Given the description of an element on the screen output the (x, y) to click on. 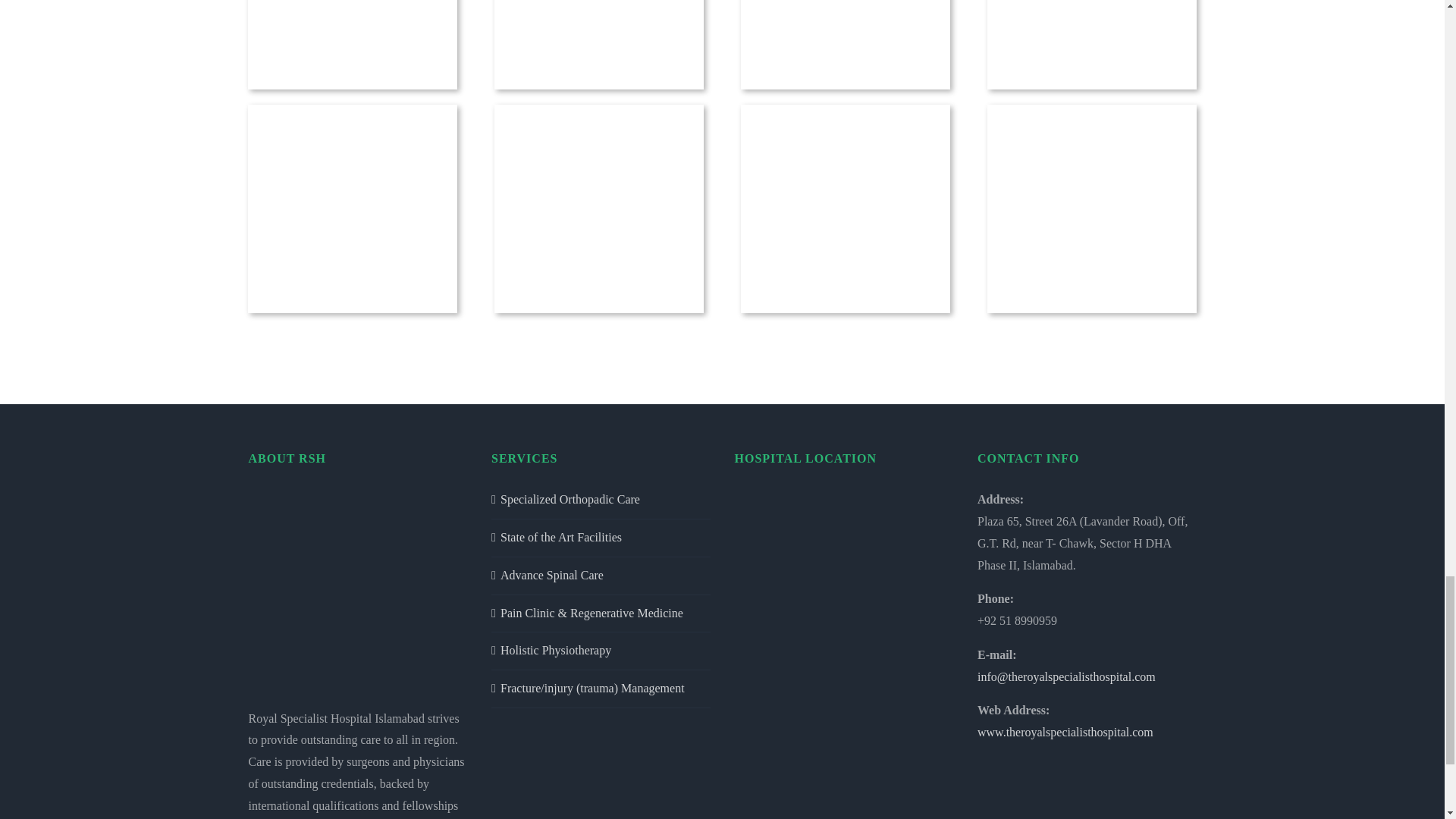
hospital in Dha isb (597, 208)
Best Hospital In Dha isb (351, 42)
hospital in Dha isb (1091, 42)
Best Hospital In Dha isb (597, 42)
Best Phsiotherapy in Dha Isb (844, 42)
hospital in Dha isb (351, 208)
